Given the description of an element on the screen output the (x, y) to click on. 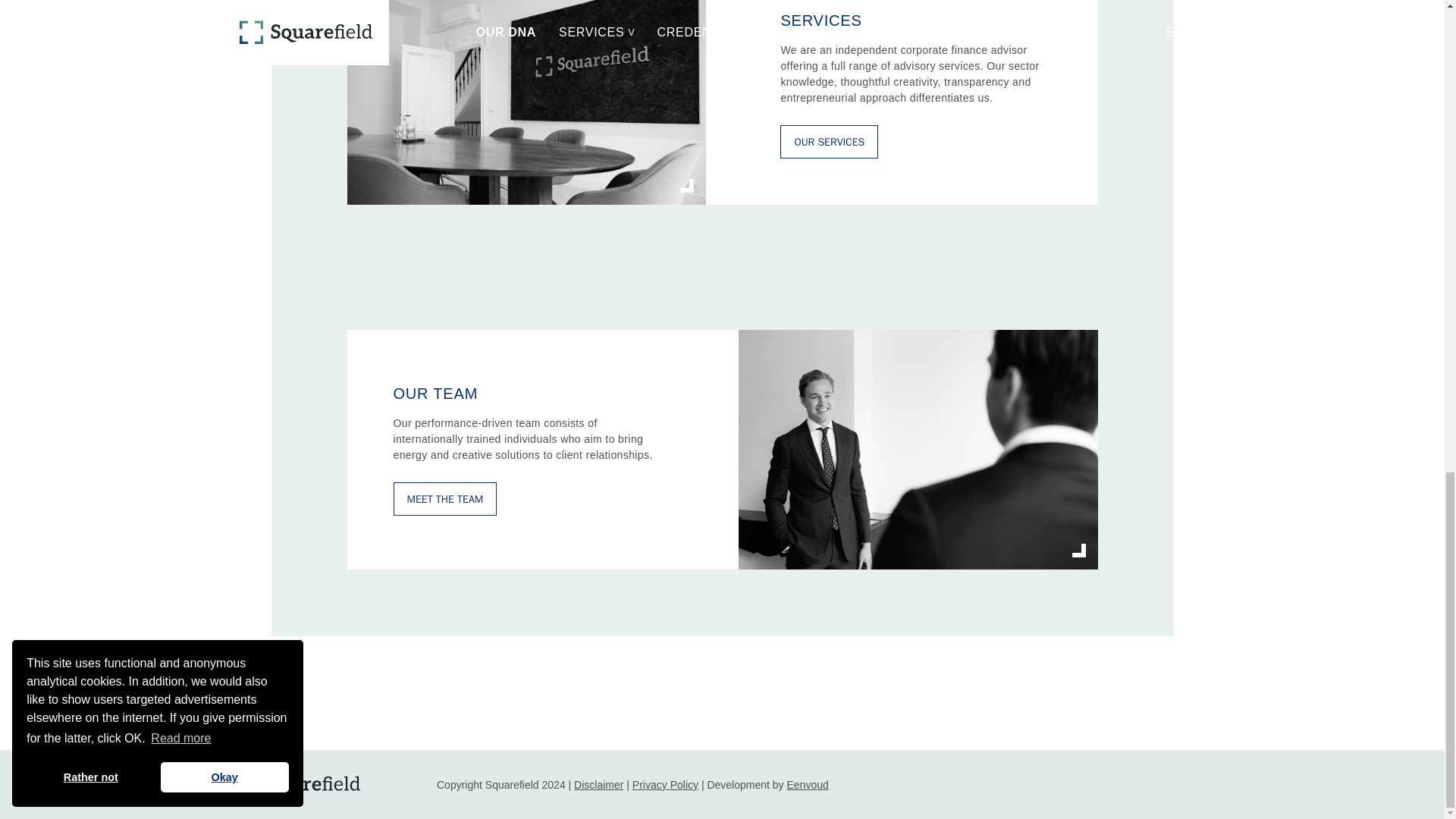
Privacy Policy (664, 784)
MEET THE TEAM (444, 498)
Eenvoud (807, 784)
Disclaimer (598, 784)
Disclaimer (598, 784)
OUR SERVICES (828, 141)
Eenvoud (807, 784)
Privacy Policy (664, 784)
